Given the description of an element on the screen output the (x, y) to click on. 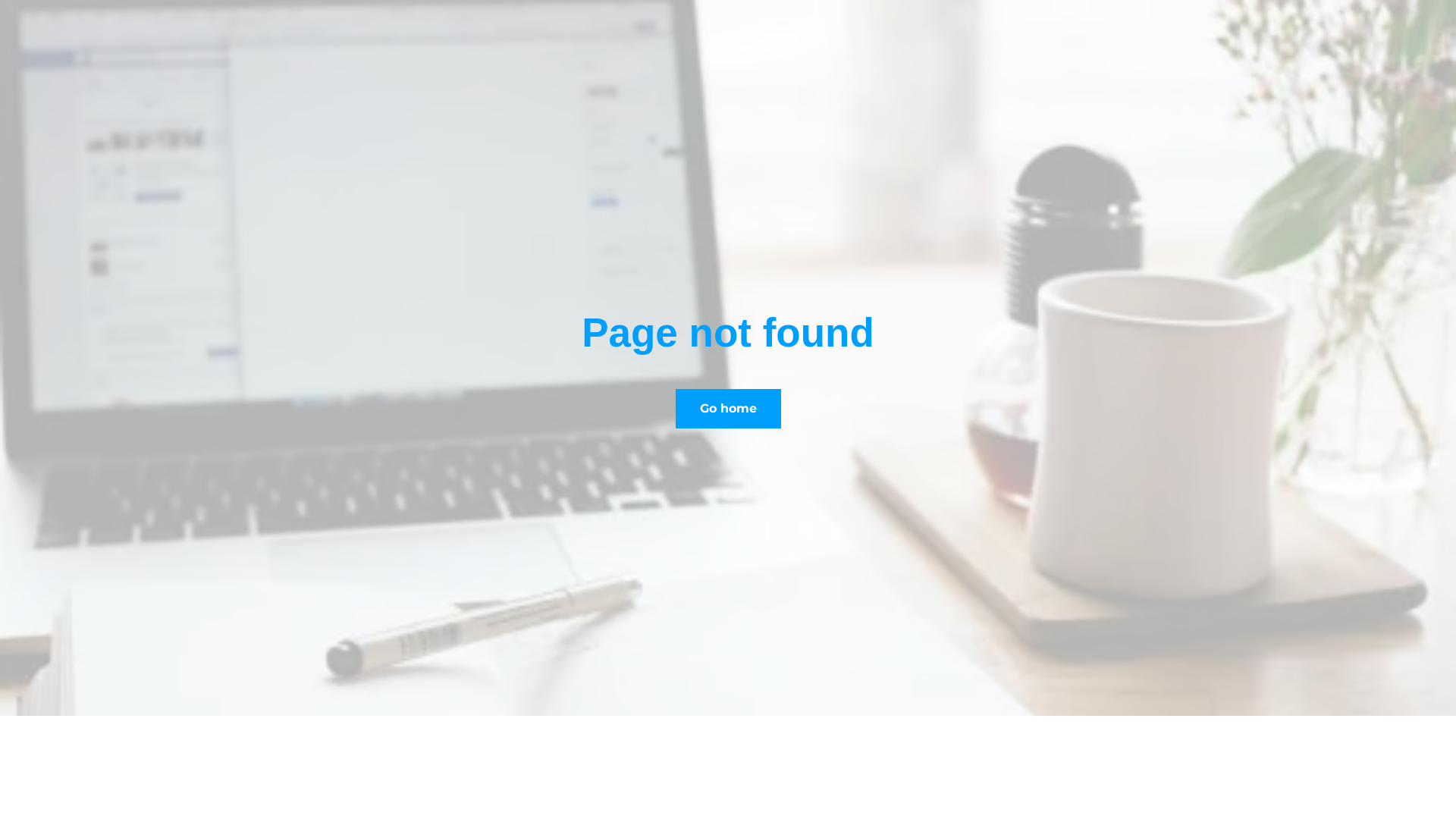
Go home Element type: text (727, 408)
